Given the description of an element on the screen output the (x, y) to click on. 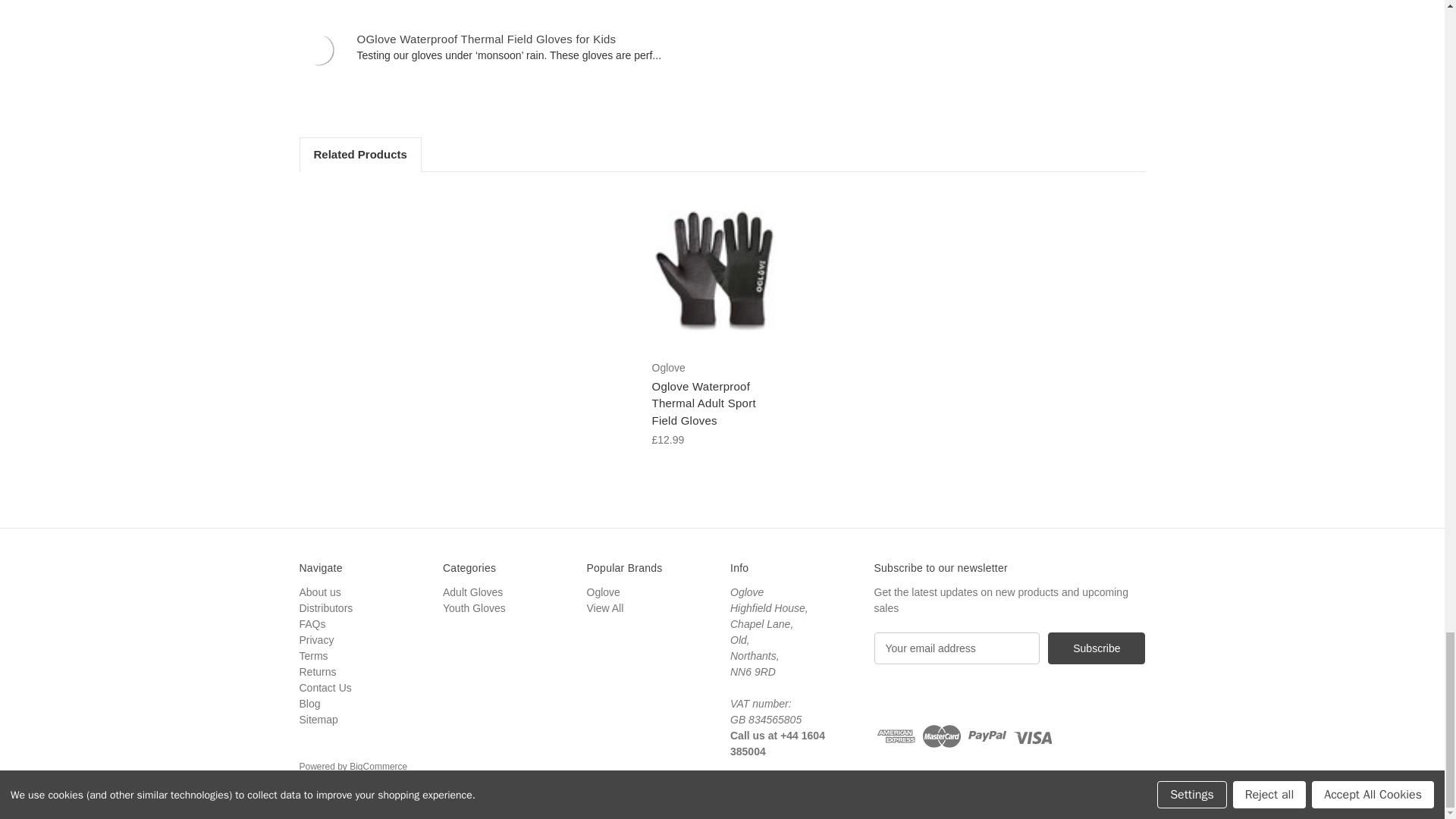
Mastercard (941, 736)
American Express (896, 736)
Subscribe (1096, 648)
Oglove Waterproof Thermal Adult Sport Field Gloves (713, 269)
Visa (1032, 736)
PayPal (987, 736)
